Given the description of an element on the screen output the (x, y) to click on. 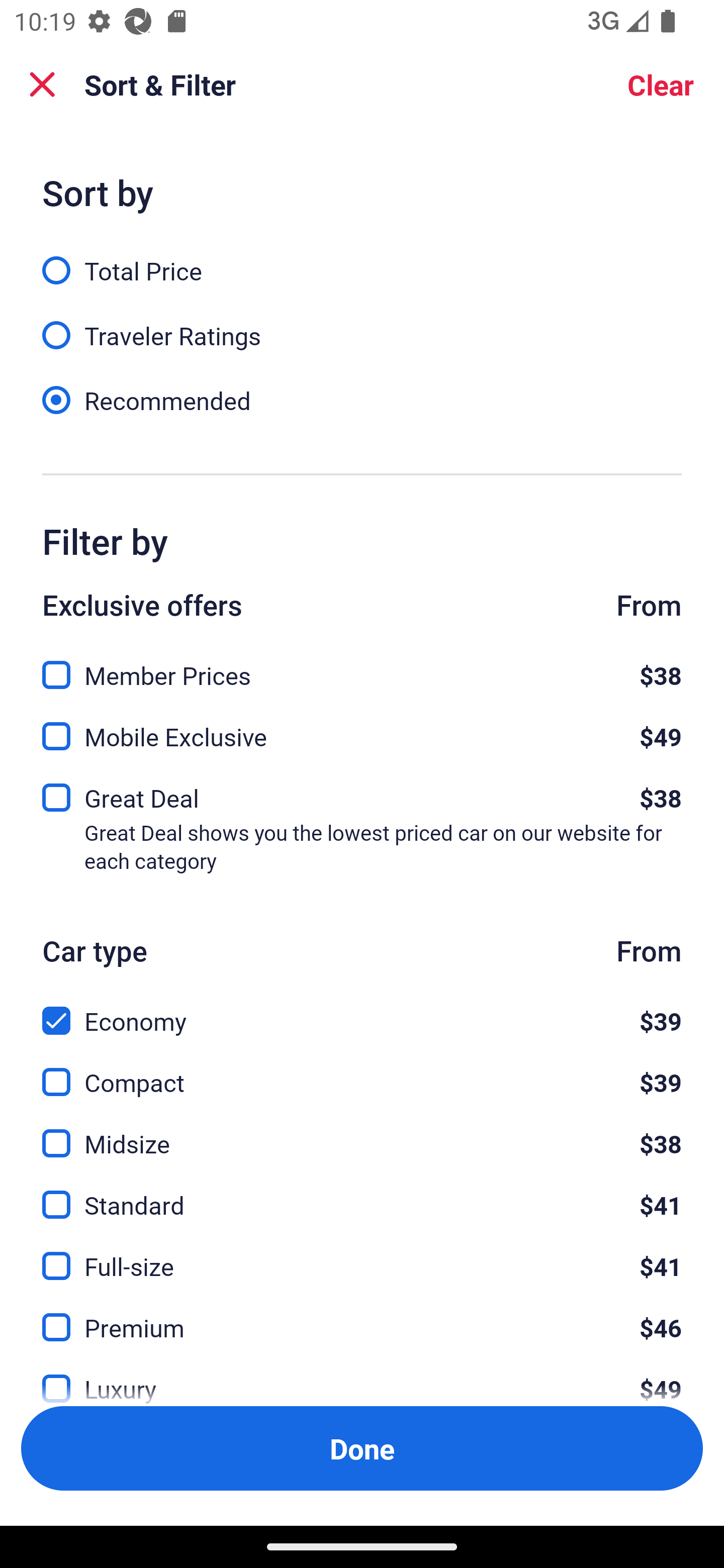
Close Sort and Filter (42, 84)
Clear (660, 84)
Total Price (361, 259)
Traveler Ratings (361, 324)
Member Prices, $38 Member Prices $38 (361, 663)
Mobile Exclusive, $49 Mobile Exclusive $49 (361, 730)
Economy, $39 Economy $39 (361, 1008)
Compact, $39 Compact $39 (361, 1070)
Midsize, $38 Midsize $38 (361, 1132)
Standard, $41 Standard $41 (361, 1193)
Full-size, $41 Full-size $41 (361, 1254)
Premium, $46 Premium $46 (361, 1315)
Luxury, $49 Luxury $49 (361, 1376)
Apply and close Sort and Filter Done (361, 1448)
